Given the description of an element on the screen output the (x, y) to click on. 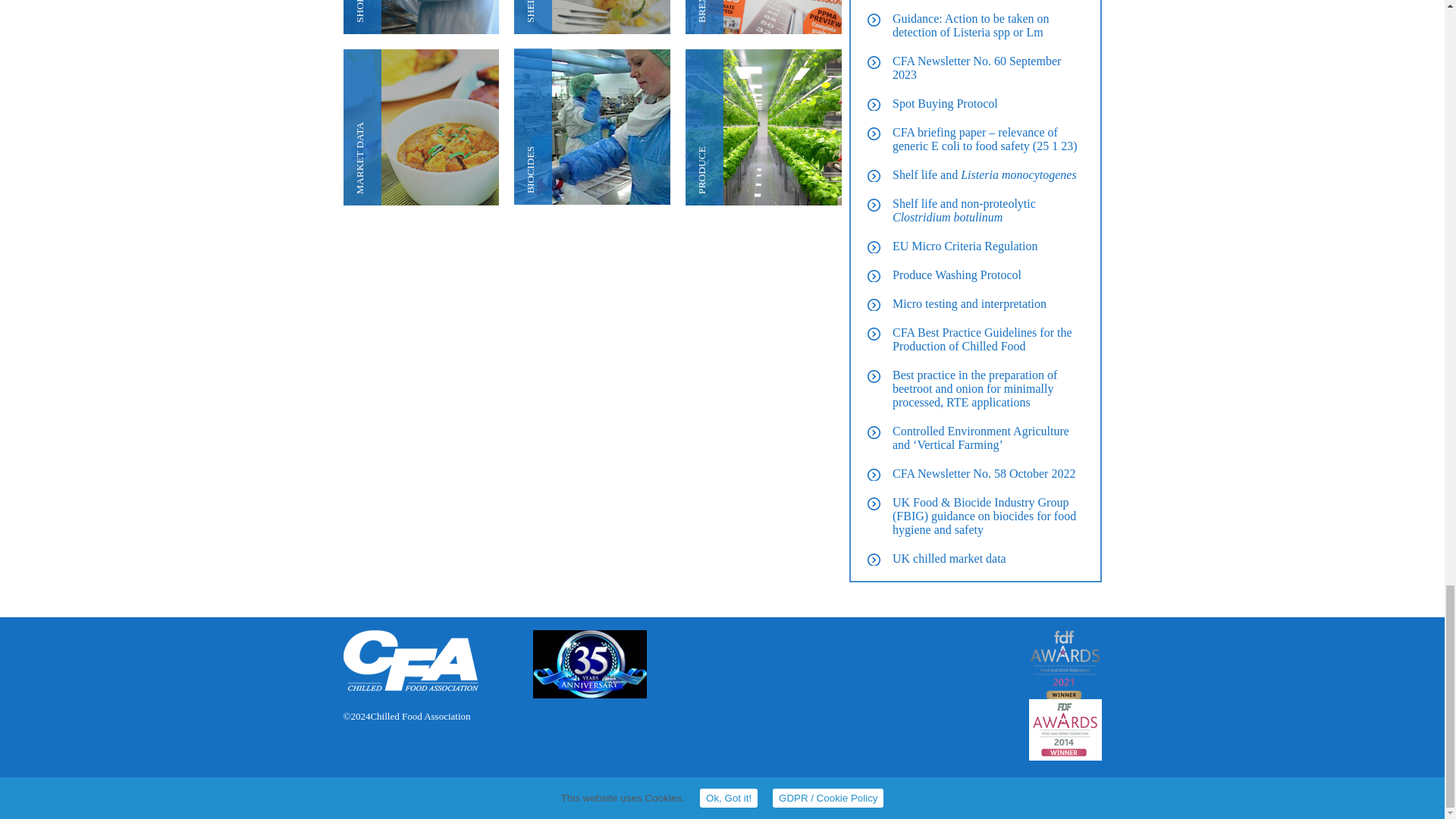
Shelf life and Listeria monocytogenes (984, 174)
MARKET DATA (420, 127)
BREXIT (763, 17)
PRODUCE (763, 127)
SHELF LIFE (591, 17)
Spot Buying Protocol (944, 103)
BIOCIDES (591, 127)
SHOP (420, 17)
CFA Newsletter No. 60 September 2023 (976, 67)
